Given the description of an element on the screen output the (x, y) to click on. 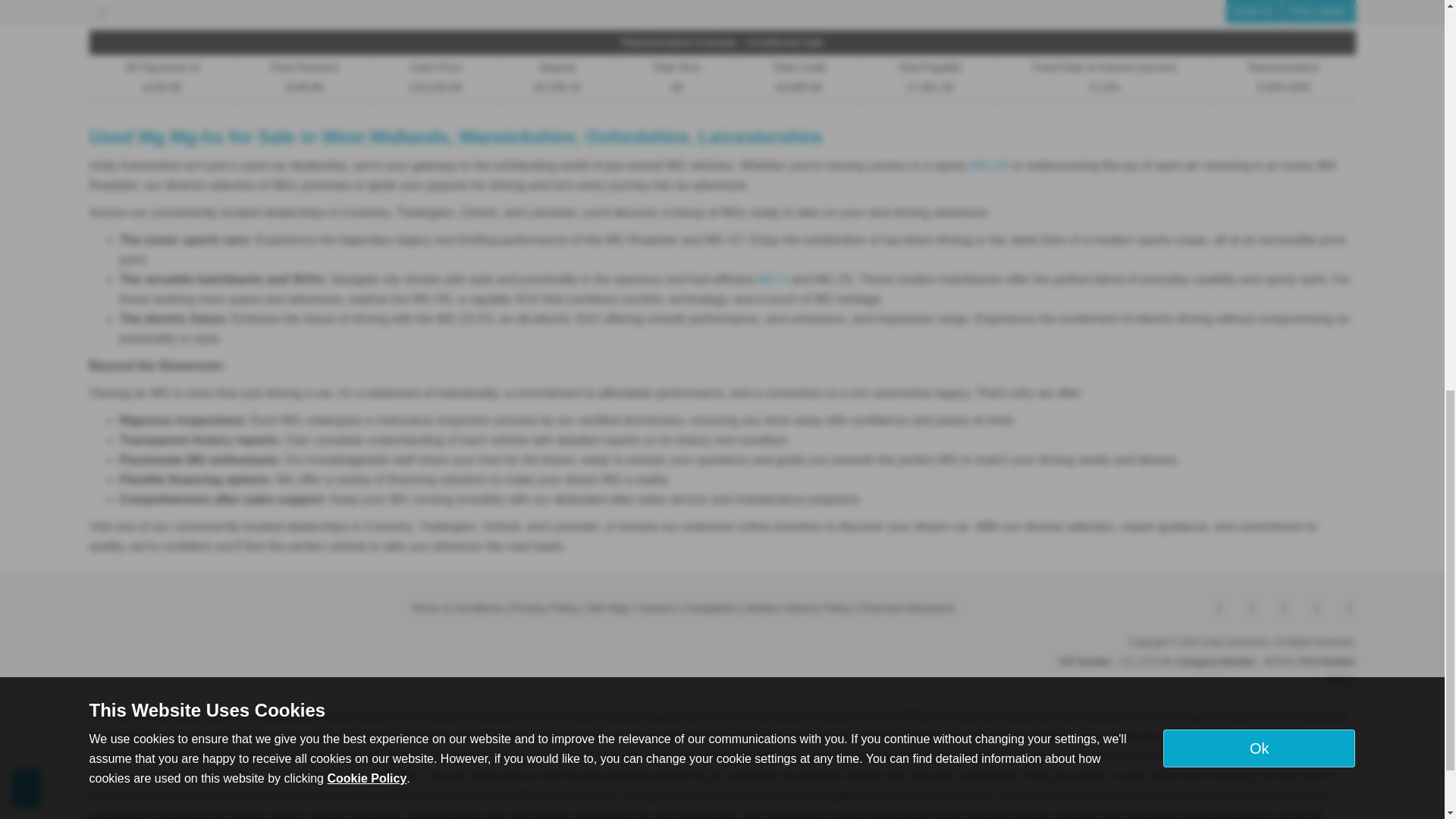
List View (1305, 8)
Sort (1267, 8)
Grid View (1339, 8)
